Given the description of an element on the screen output the (x, y) to click on. 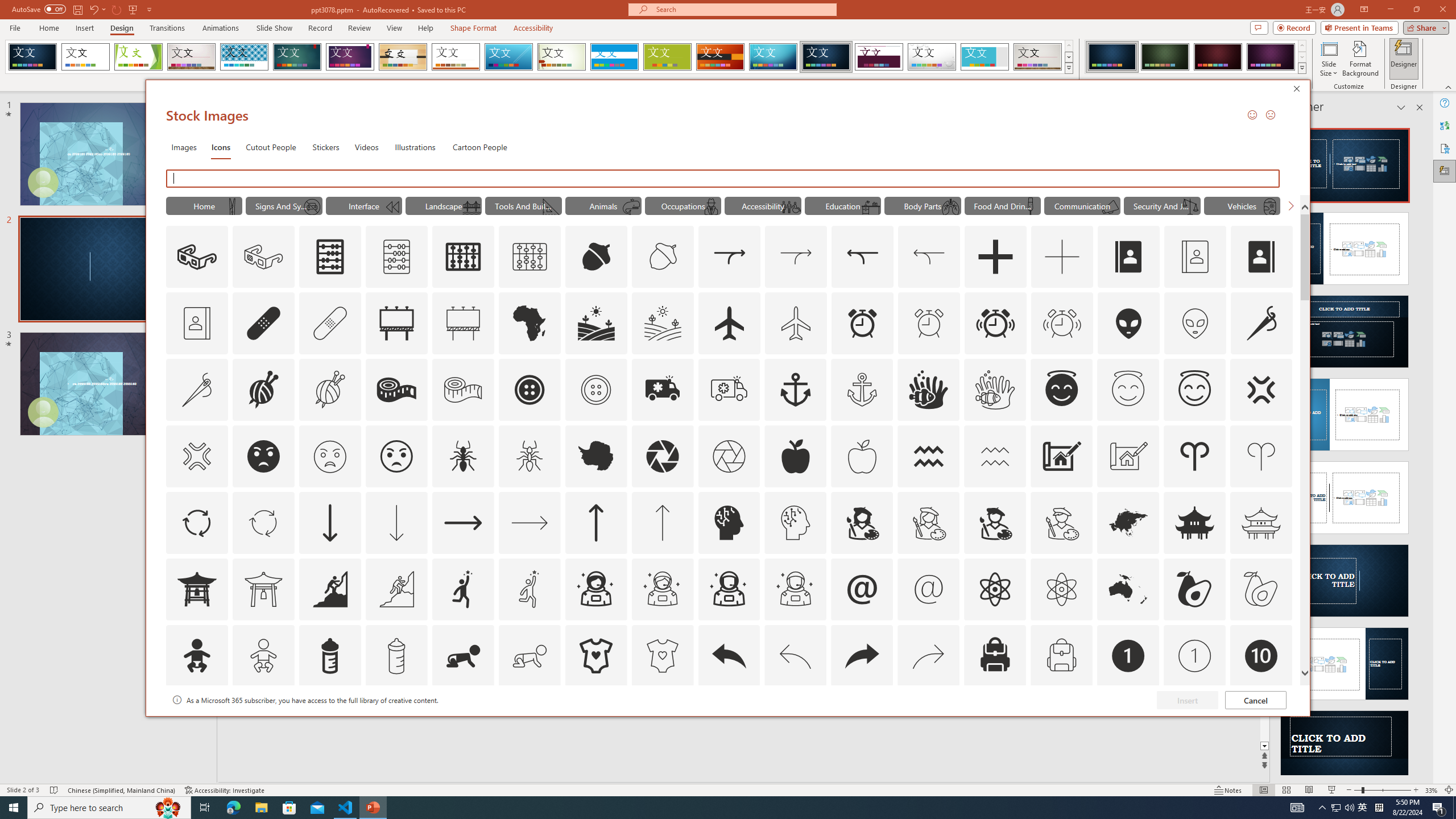
AutomationID: Icons_Badge2_M (329, 721)
AutomationID: Icons_AlarmClock_M (928, 323)
AutomationID: Icons_AngryFace_Outline (395, 455)
AutomationID: Icons_Backpack_M (1061, 655)
AutomationID: Icons_ArtificialIntelligence_M (795, 522)
AutomationID: Icons_ArtistFemale (861, 522)
Droplet (931, 56)
Format Background (1360, 58)
AutomationID: Icons_Badge9_M (1260, 721)
AutomationID: Icons_Agriculture_M (663, 323)
